Given the description of an element on the screen output the (x, y) to click on. 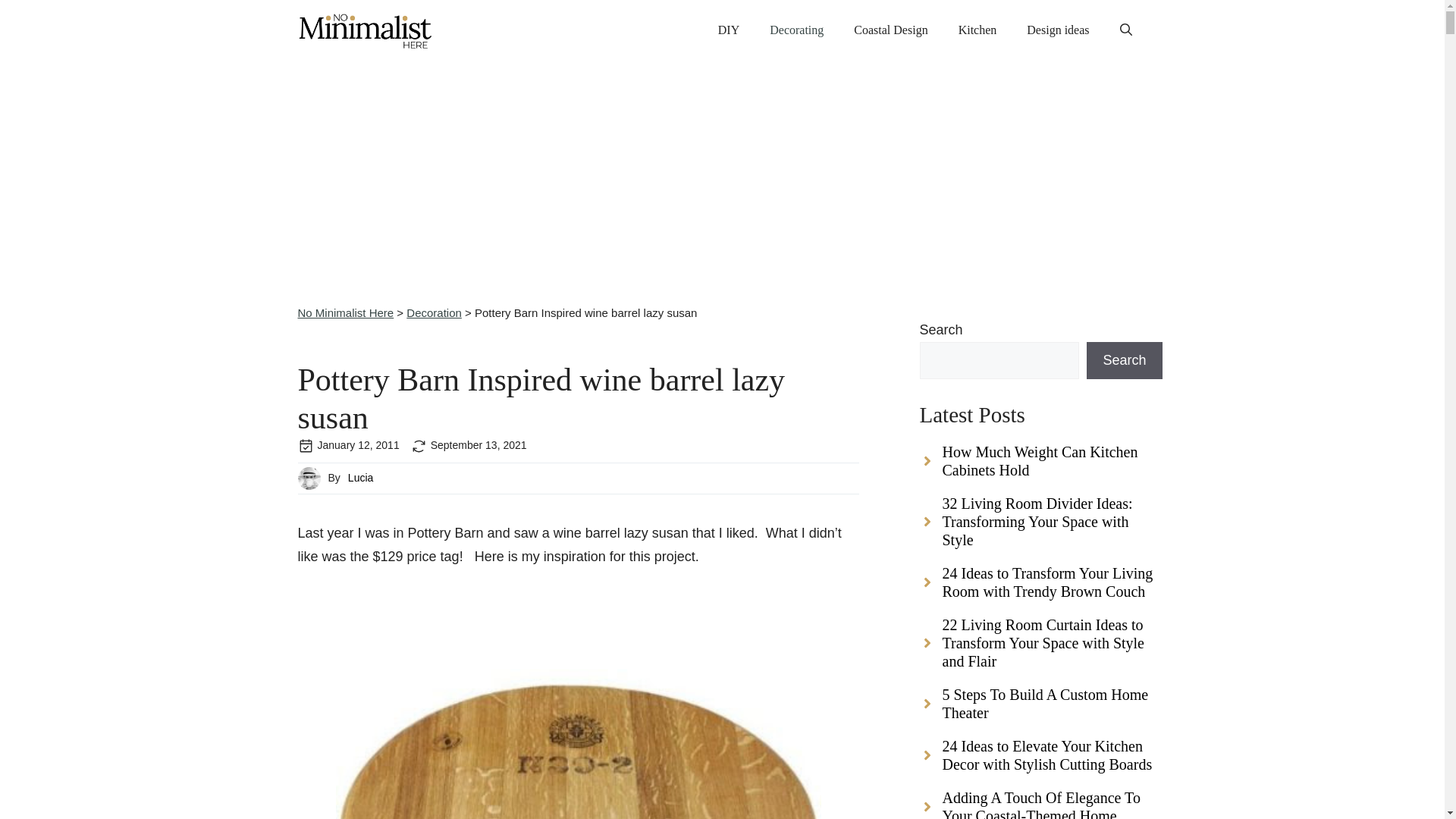
Go to No Minimalist Here. (345, 312)
Decorating (796, 30)
Go to the Decoration Category archives. (433, 312)
How Much Weight Can Kitchen Cabinets Hold (1039, 468)
Coastal Design (890, 30)
Decoration (433, 312)
5 Steps To Build A Custom Home Theater (1039, 711)
DIY (728, 30)
Kitchen (977, 30)
Lucia (359, 477)
